Given the description of an element on the screen output the (x, y) to click on. 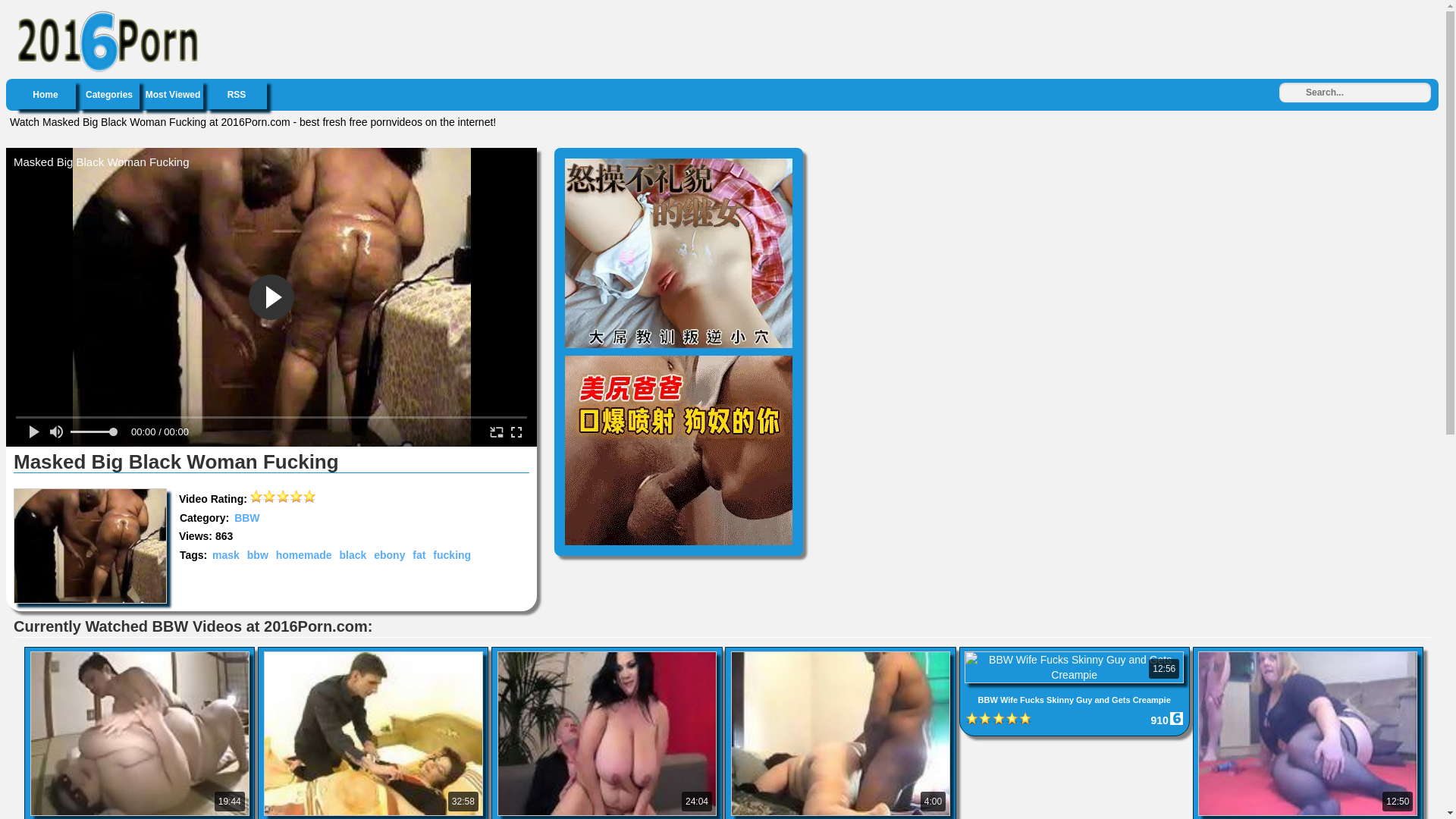
Home Element type: text (45, 94)
12:56
BBW Wife Fucks Skinny Guy and Gets Creampie
910 Element type: text (1075, 654)
fucking Element type: text (451, 554)
homemade Element type: text (303, 554)
ebony Element type: text (389, 554)
Categories Element type: text (108, 94)
12:50
Amateur BBW Wife Gets Creampie
805 Element type: text (1307, 654)
BBW Element type: text (246, 517)
32:58
Giant Joggs Bouncing While Mature Pussy Fucked
572 Element type: text (374, 654)
Masked Big Black Woman Fucking Element type: hover (90, 545)
mask Element type: text (225, 554)
RSS Element type: text (236, 94)
Most Viewed Element type: text (172, 94)
4:00
Big black guy fucks a bold white babe doggystyle
856 Element type: text (841, 654)
bbw Element type: text (257, 554)
black Element type: text (352, 554)
fat Element type: text (418, 554)
